Given the description of an element on the screen output the (x, y) to click on. 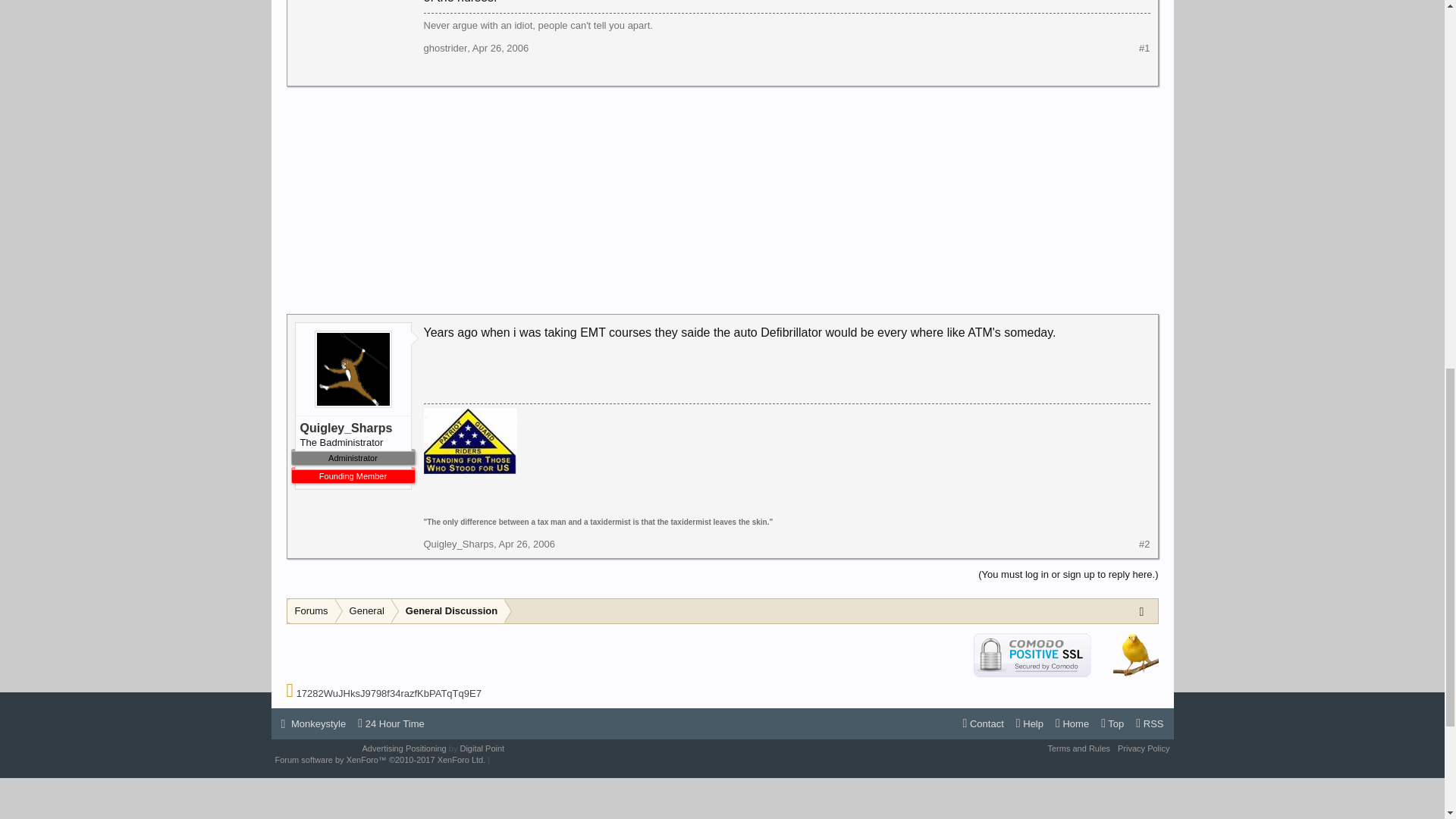
Permalink (499, 48)
ghostrider (445, 48)
Warrant Canary (1135, 654)
Permalink (526, 543)
Apr 26, 2006 (526, 543)
Forums (310, 611)
17282WuJHksJ9798f34razfKbPATqTq9E7 (389, 693)
Open quick navigation (1144, 610)
Apr 26, 2006 (499, 48)
